Given the description of an element on the screen output the (x, y) to click on. 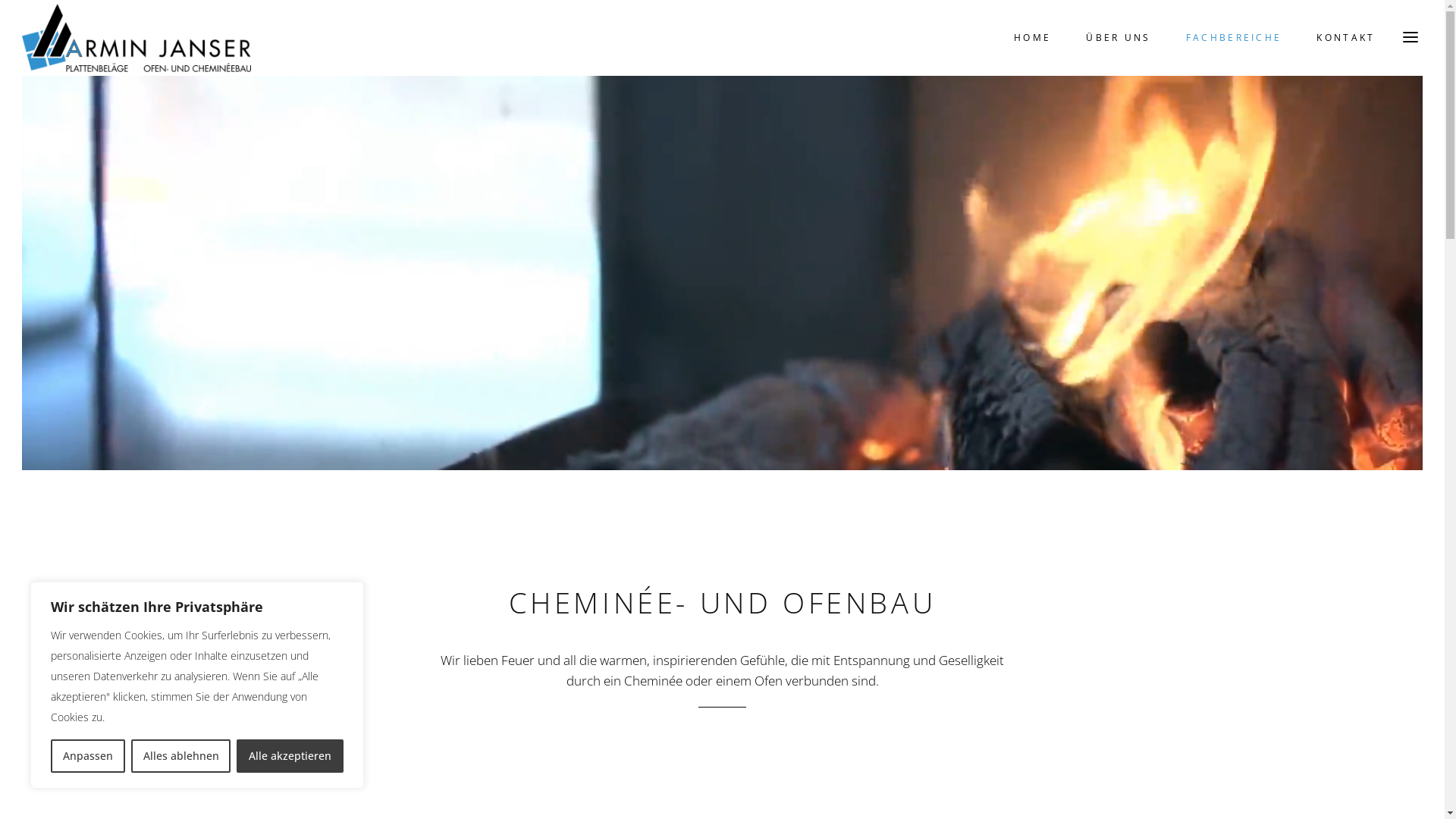
FACHBEREICHE Element type: text (1233, 37)
HOME Element type: text (1032, 37)
Alles ablehnen Element type: text (181, 755)
Anpassen Element type: text (87, 755)
KONTAKT Element type: text (1345, 37)
Alle akzeptieren Element type: text (289, 755)
